Given the description of an element on the screen output the (x, y) to click on. 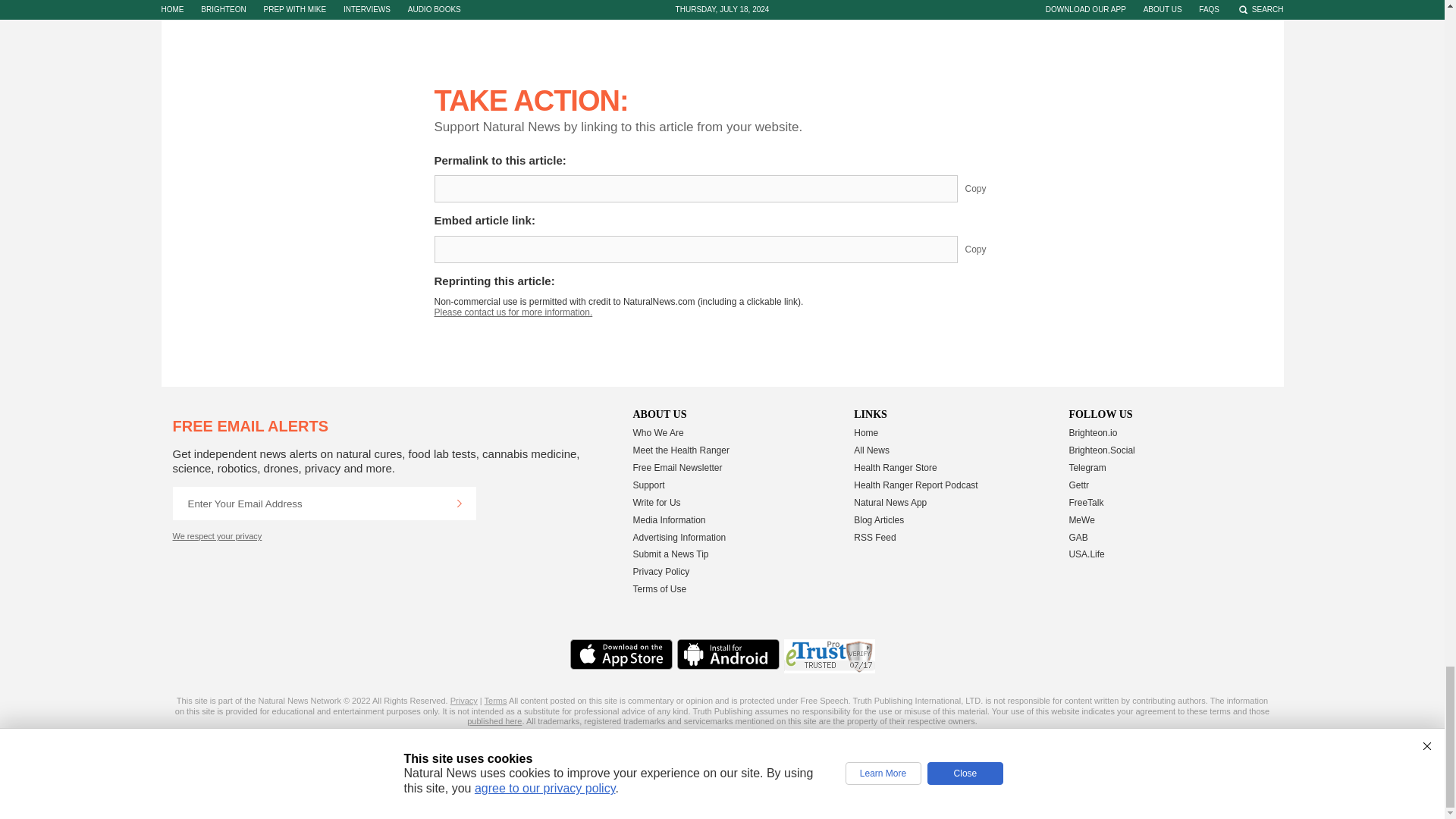
Copy Permalink (986, 188)
eTrust Pro Certified (829, 656)
Copy Embed Link (986, 248)
Continue (459, 503)
